Given the description of an element on the screen output the (x, y) to click on. 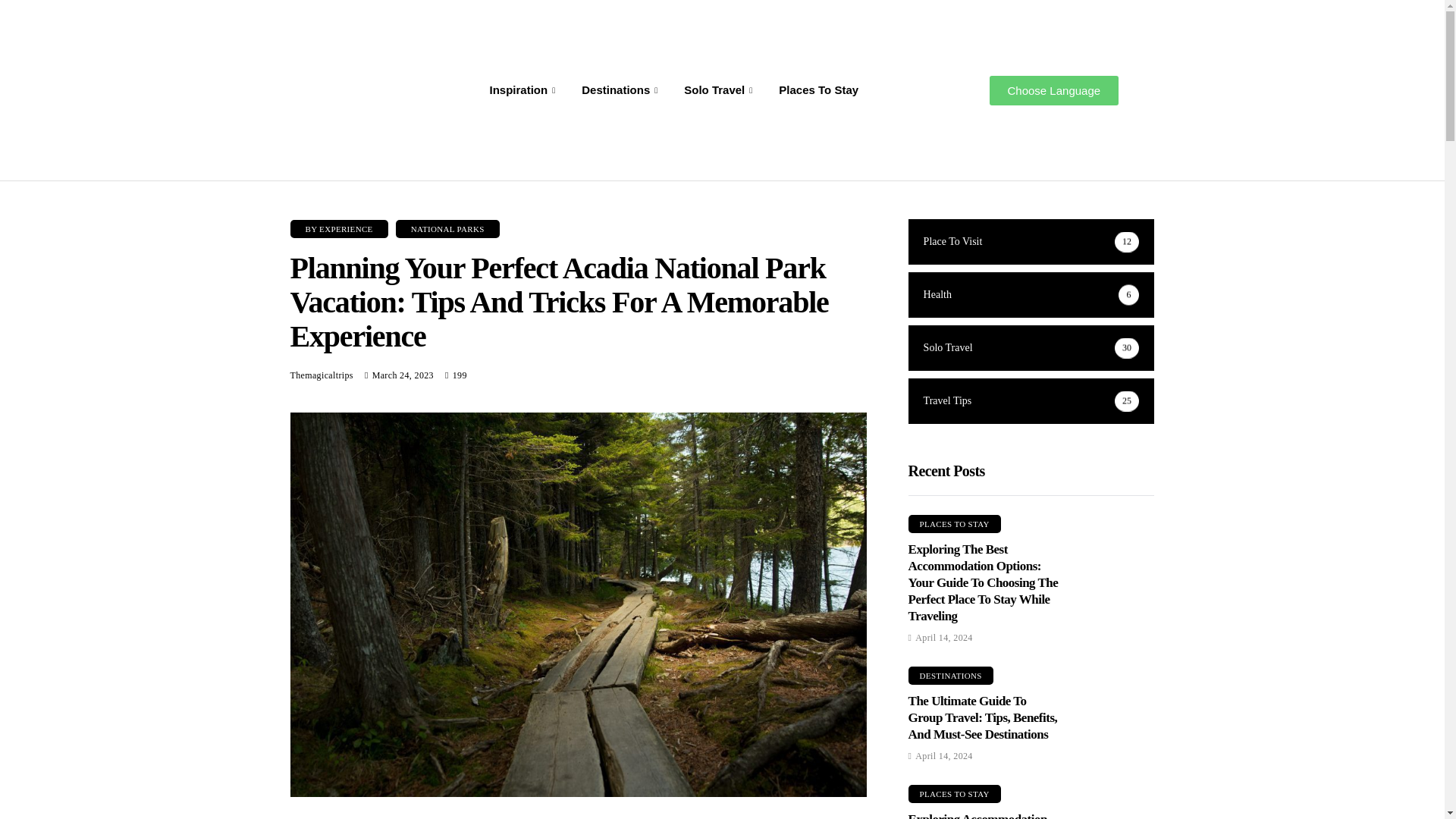
Places To Stay (818, 89)
Destinations (621, 89)
Inspiration (523, 89)
Solo Travel (719, 89)
Posts by Themagicaltrips (320, 375)
